Given the description of an element on the screen output the (x, y) to click on. 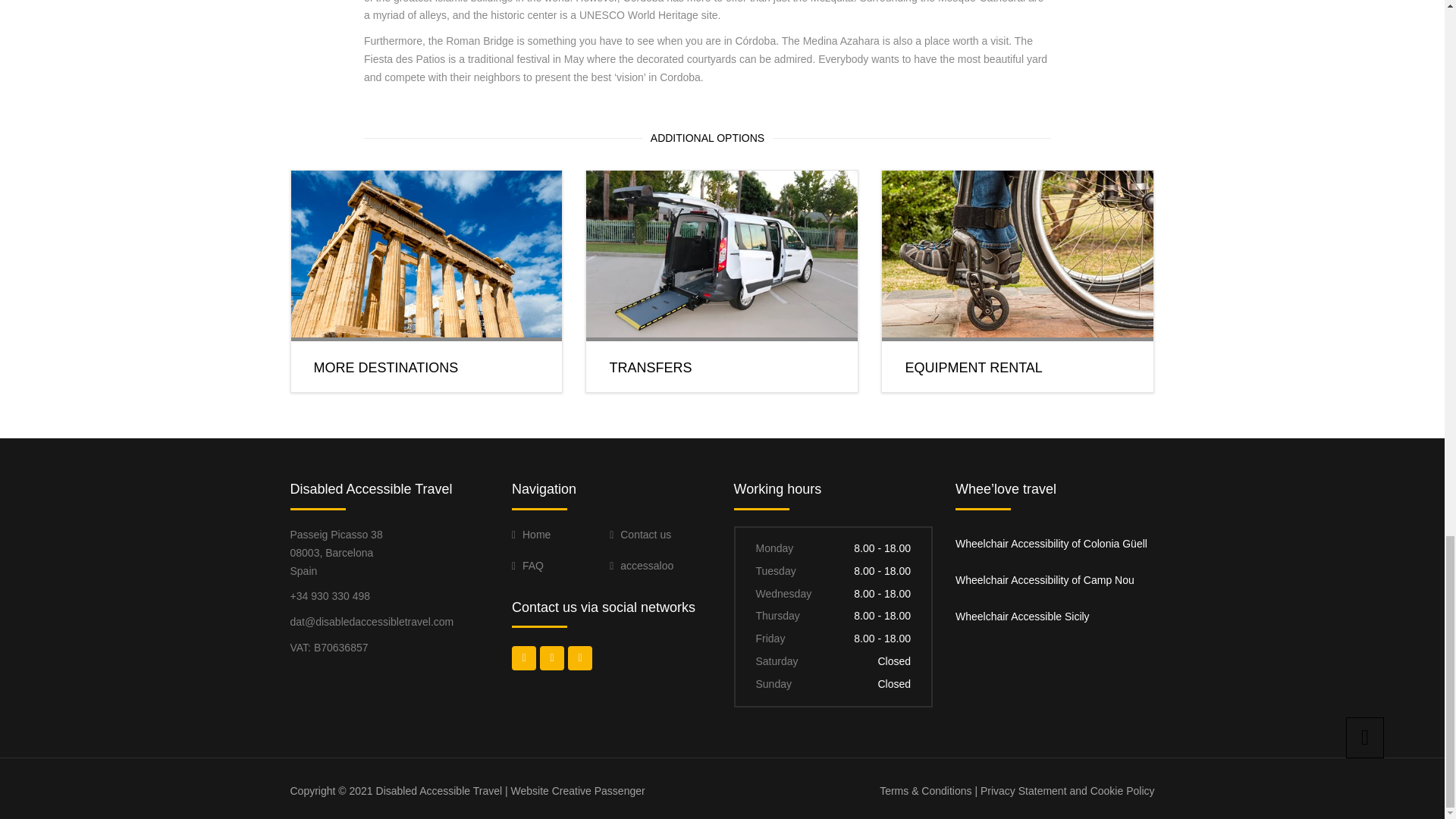
READ MORE (346, 407)
READ MORE (936, 407)
READ MORE (640, 407)
